Given the description of an element on the screen output the (x, y) to click on. 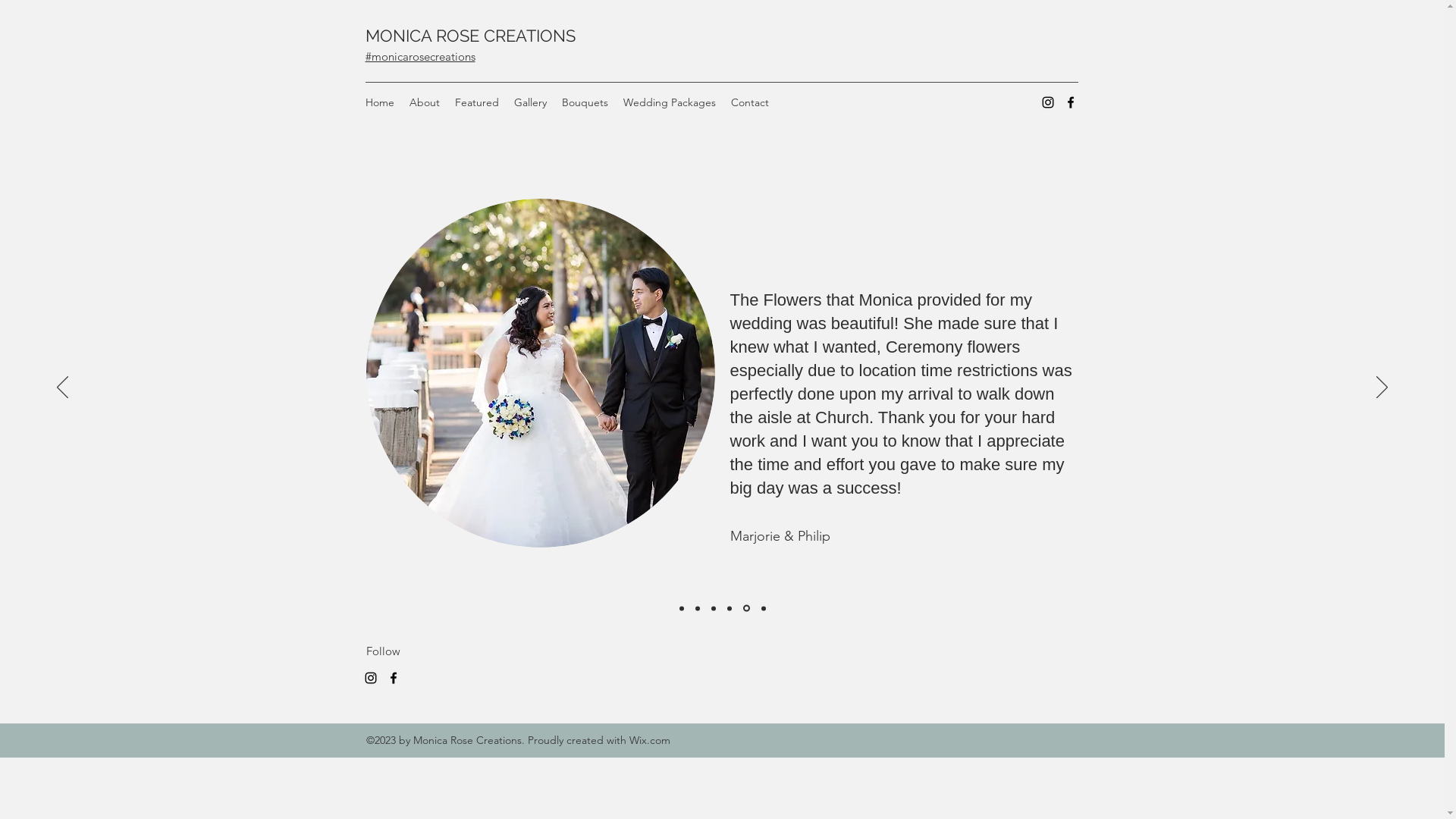
MONICA ROSE CREATIONS Element type: text (470, 35)
About Element type: text (424, 102)
Wedding Packages Element type: text (669, 102)
Bouquets Element type: text (584, 102)
Home Element type: text (379, 102)
Featured Element type: text (476, 102)
Gallery Element type: text (530, 102)
Contact Element type: text (749, 102)
